Given the description of an element on the screen output the (x, y) to click on. 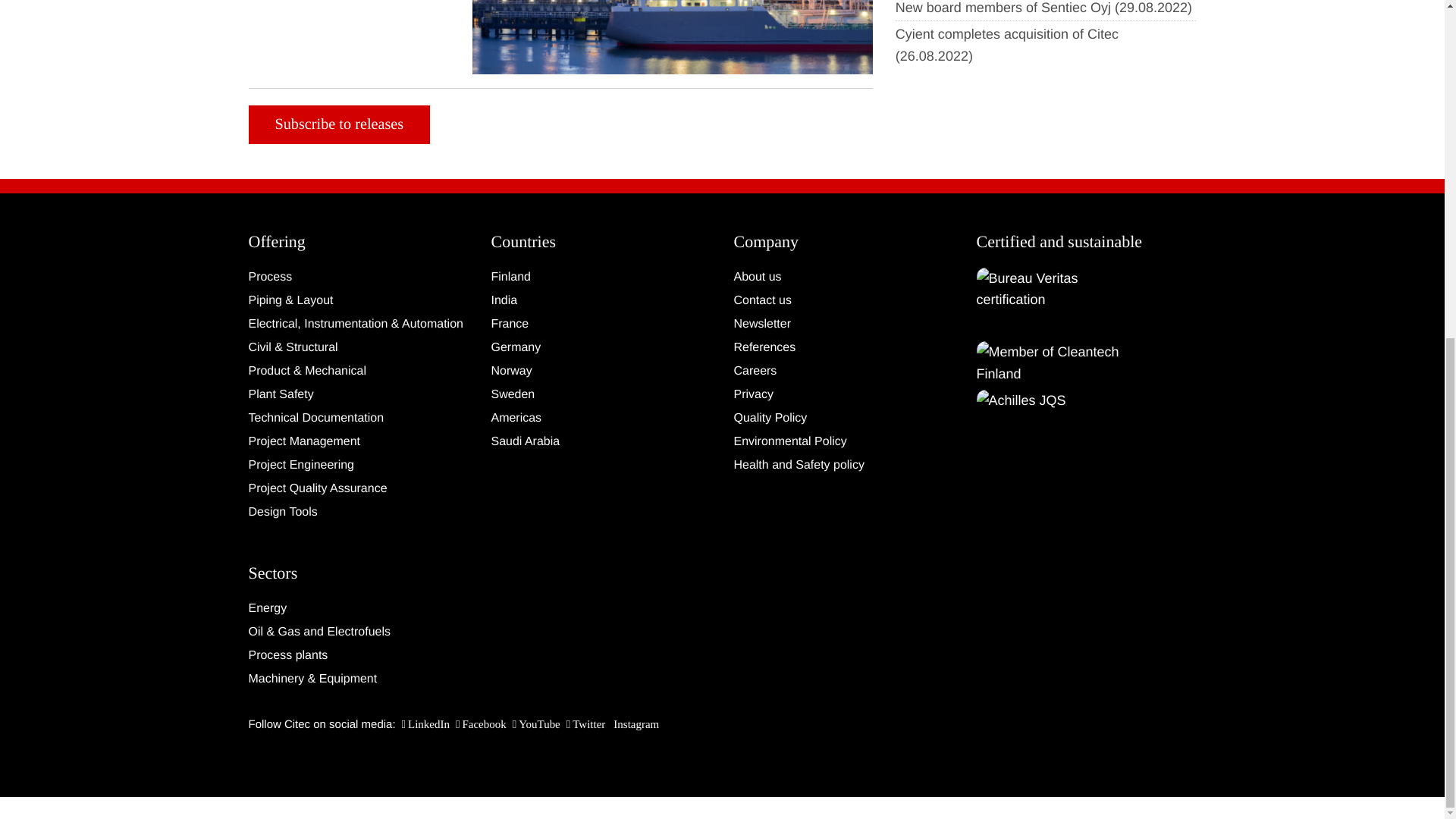
Process (358, 277)
Technical Documentation (358, 418)
Subscribe to releases (339, 124)
Project Management (358, 442)
Plant Safety (358, 394)
